Given the description of an element on the screen output the (x, y) to click on. 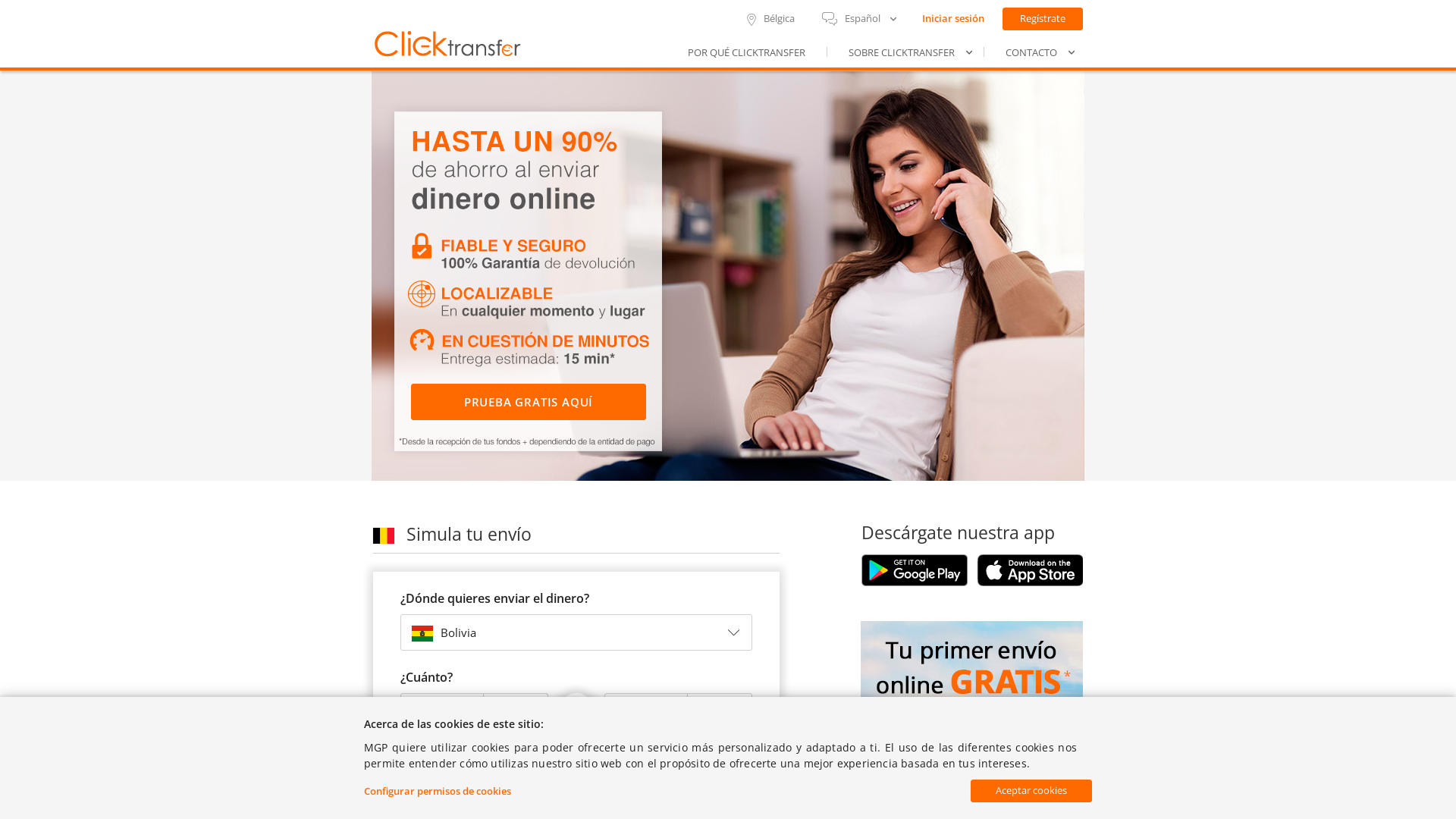
Ventanilla Element type: text (677, 765)
Configurar permisos de cookies Element type: text (437, 790)
SOBRE CLICKTRANSFER Element type: text (905, 52)
Google Play Element type: hover (914, 570)
Cuenta bancaria Element type: text (502, 764)
Apple App Store Element type: hover (1029, 570)
Calcular Element type: text (575, 710)
Aceptar cookies Element type: text (1031, 790)
CONTACTO Element type: text (1034, 52)
